Given the description of an element on the screen output the (x, y) to click on. 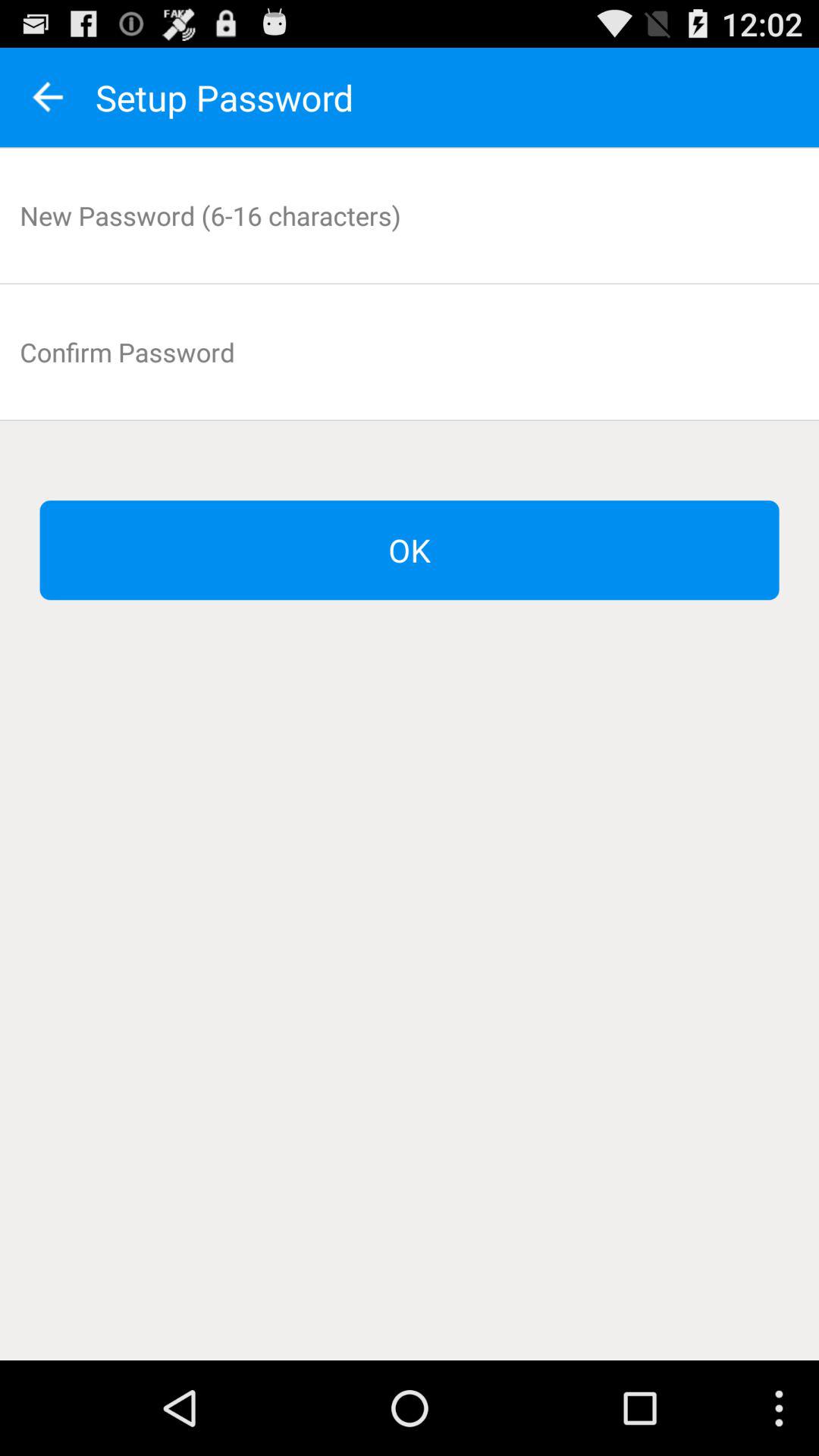
option to setup new password of 6-16 characters (409, 215)
